Given the description of an element on the screen output the (x, y) to click on. 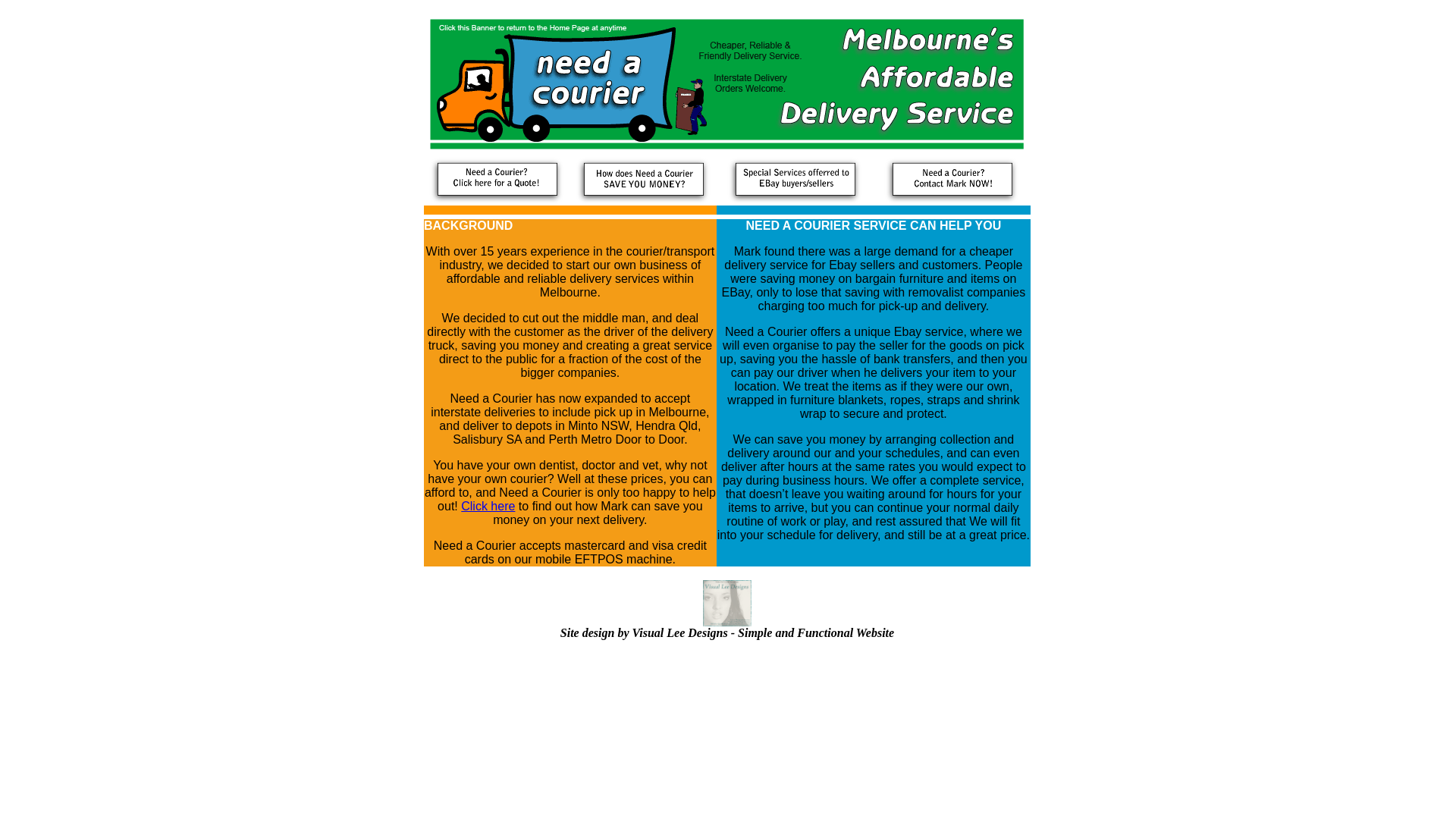
Click here Element type: text (487, 505)
